Given the description of an element on the screen output the (x, y) to click on. 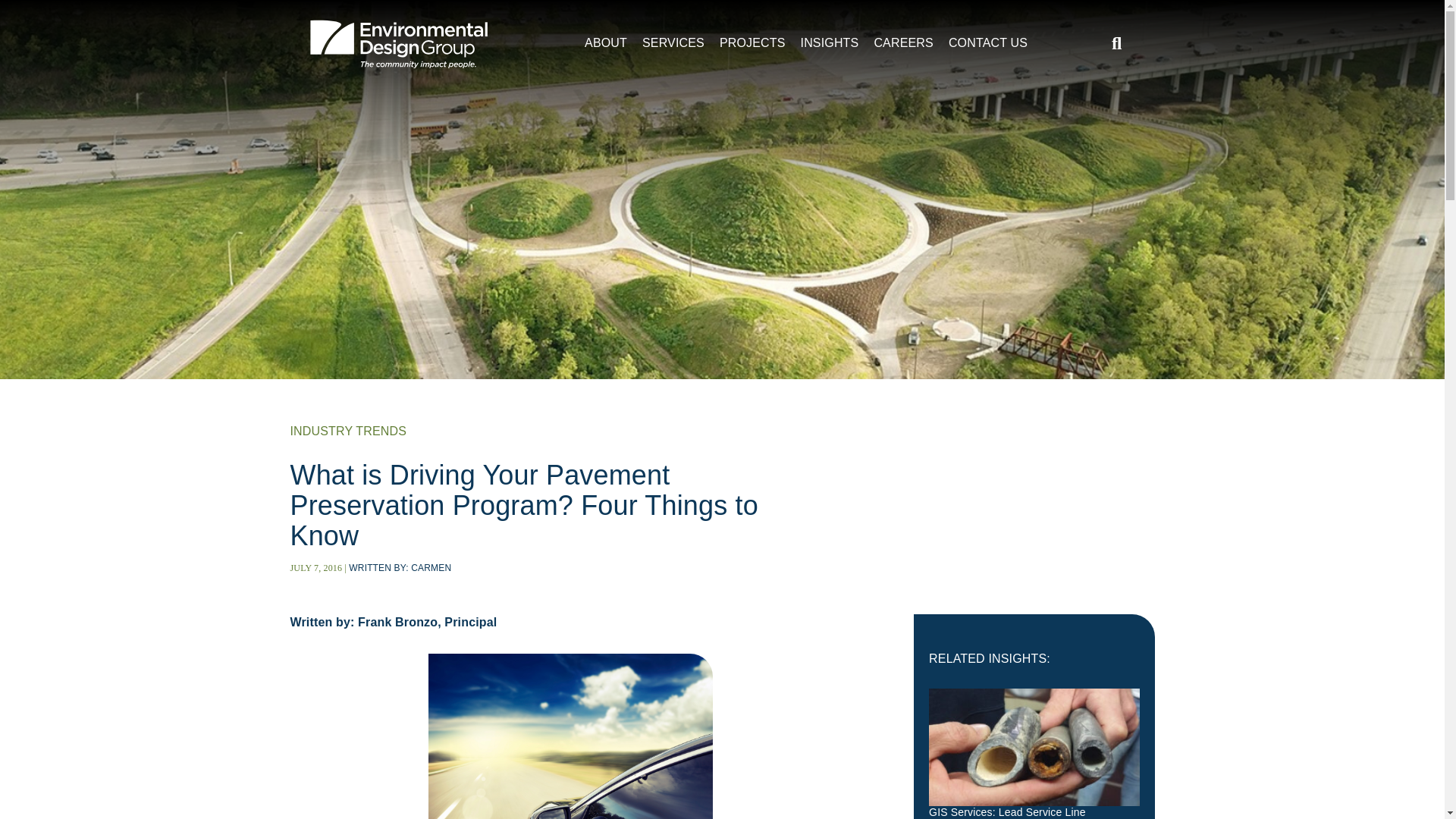
CAREERS (903, 42)
PROJECTS (752, 42)
INSIGHTS (829, 42)
ABOUT (605, 42)
CONTACT US (987, 42)
SERVICES (672, 42)
